Given the description of an element on the screen output the (x, y) to click on. 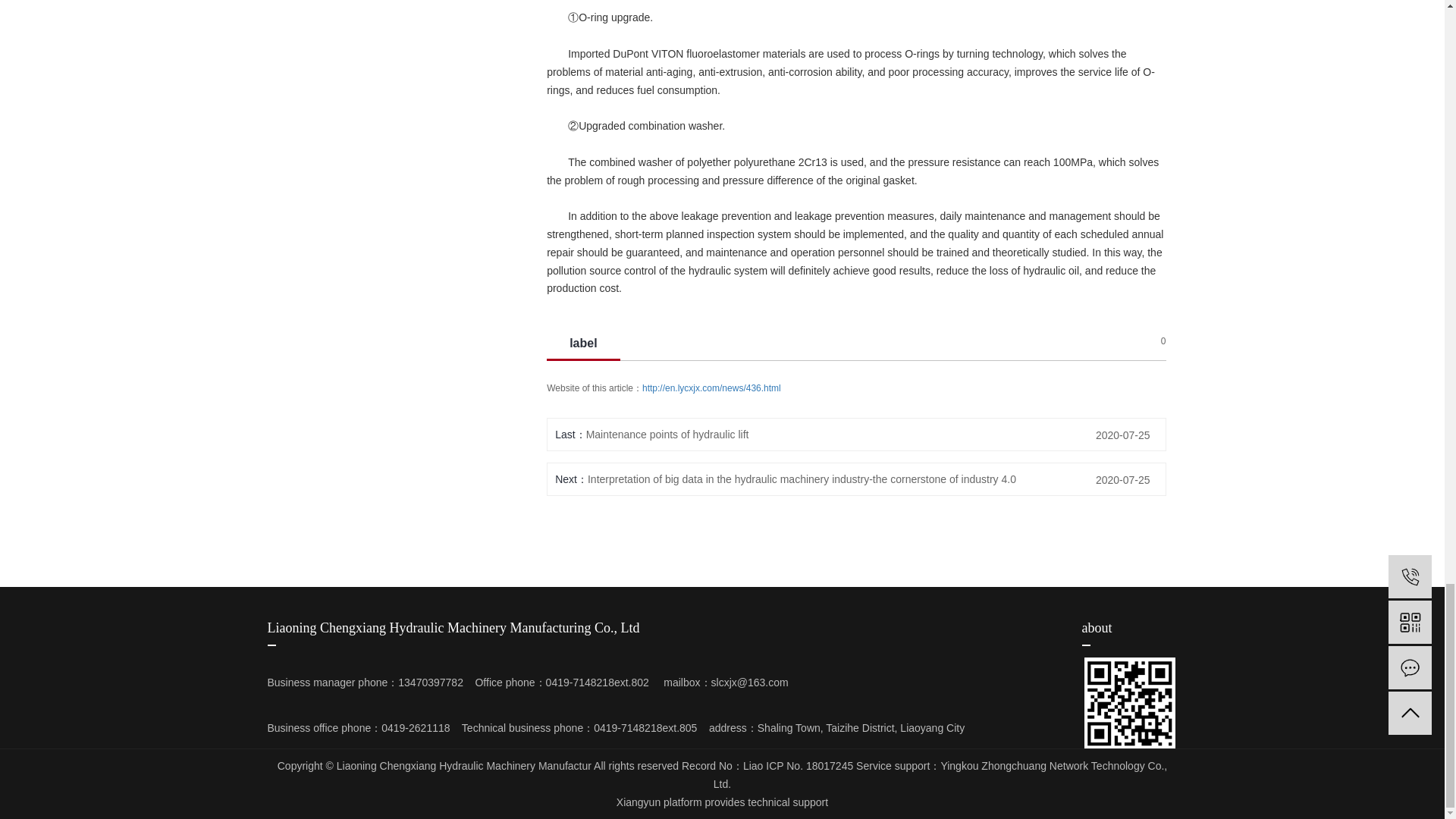
1604536475204768.png (1129, 702)
